Given the description of an element on the screen output the (x, y) to click on. 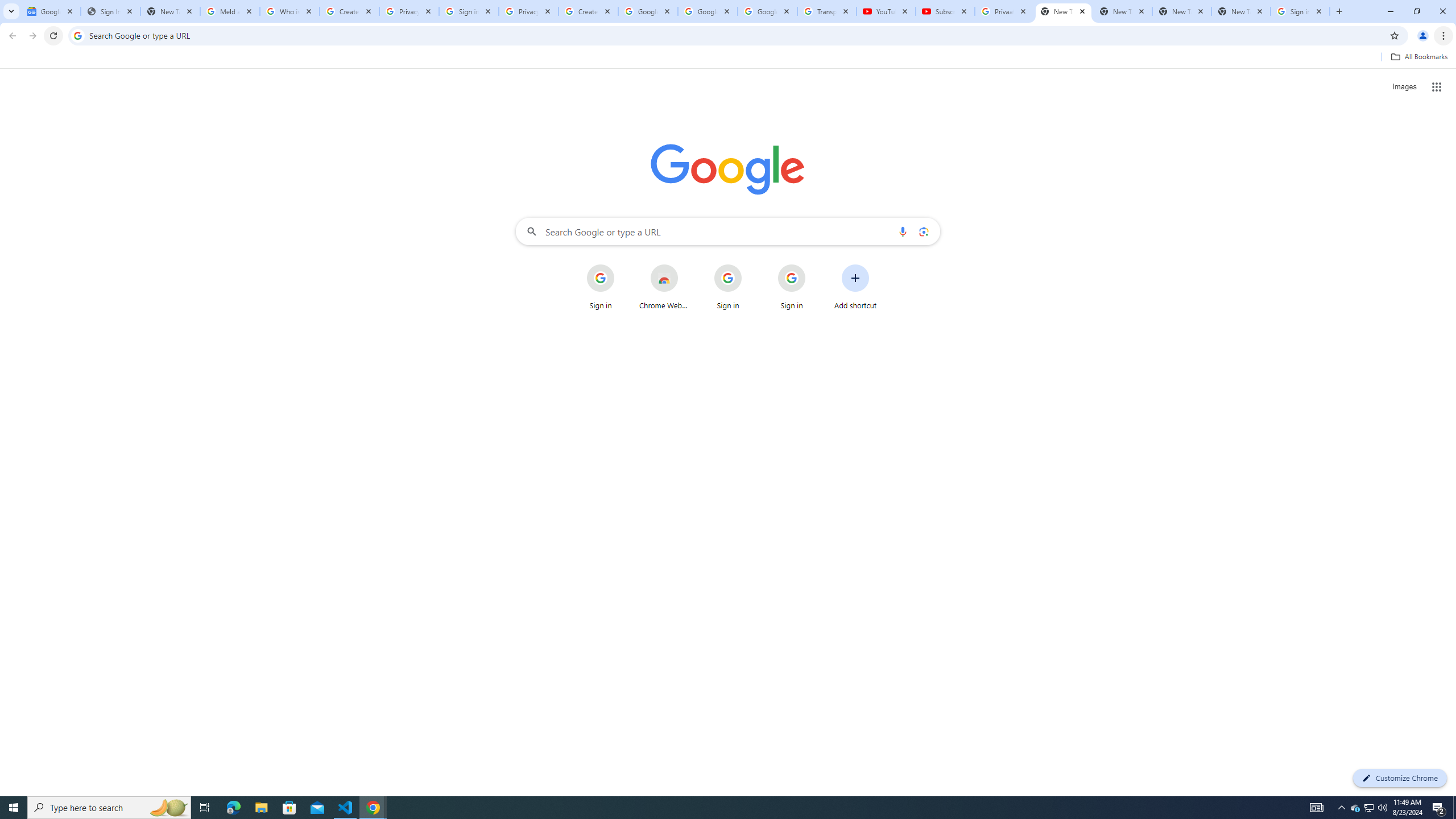
New Tab (1063, 11)
New Tab (1241, 11)
